Given the description of an element on the screen output the (x, y) to click on. 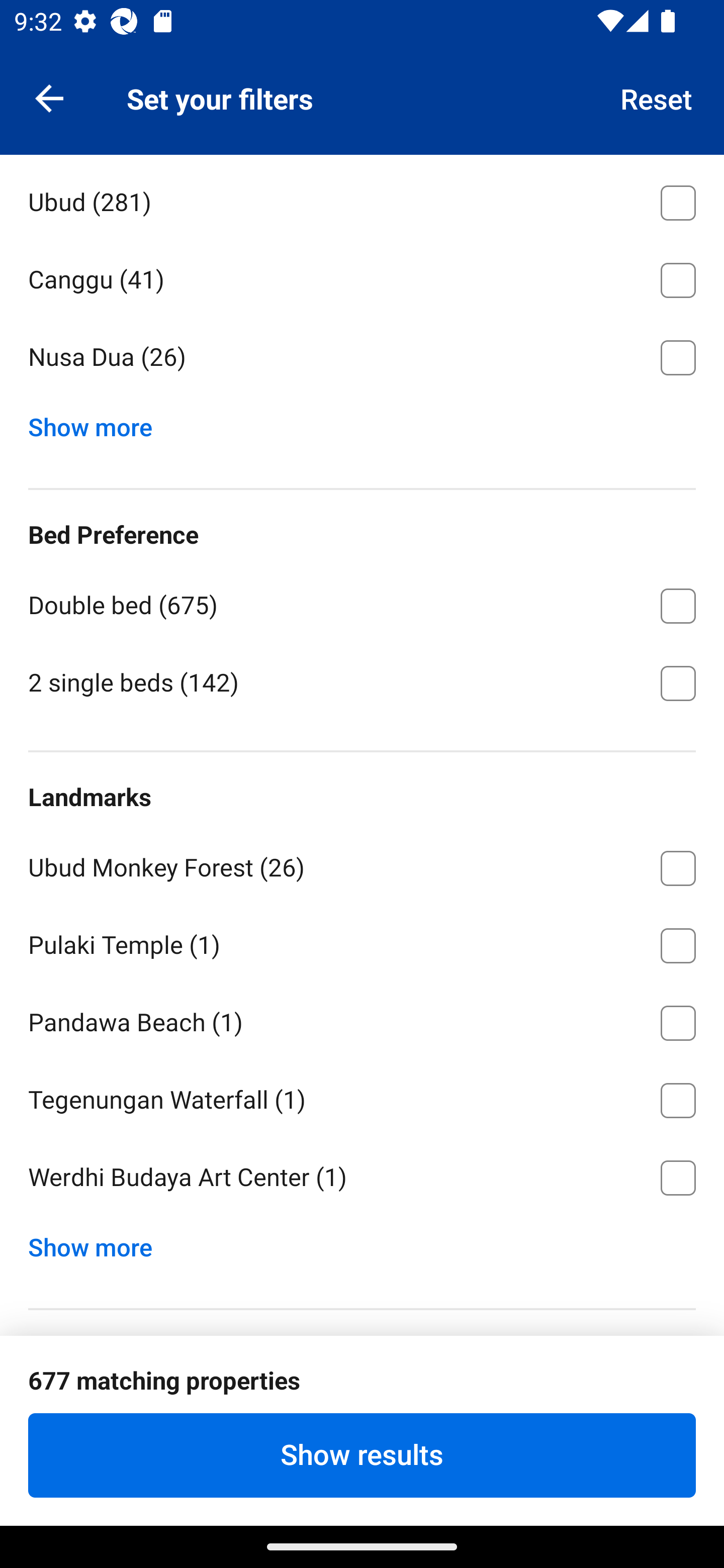
Navigate up (49, 97)
Reset (656, 97)
Ubud ⁦(281) (361, 199)
Canggu ⁦(41) (361, 276)
Nusa Dua ⁦(26) (361, 357)
Show more (97, 422)
Double bed ⁦(675) (361, 602)
2 single beds ⁦(142) (361, 681)
Ubud Monkey Forest ⁦(26) (361, 864)
Pulaki Temple ⁦(1) (361, 942)
Pandawa Beach ⁦(1) (361, 1019)
Tegenungan Waterfall ⁦(1) (361, 1096)
Werdhi Budaya Art Center ⁦(1) (361, 1177)
Show more (97, 1242)
Show results (361, 1454)
